Given the description of an element on the screen output the (x, y) to click on. 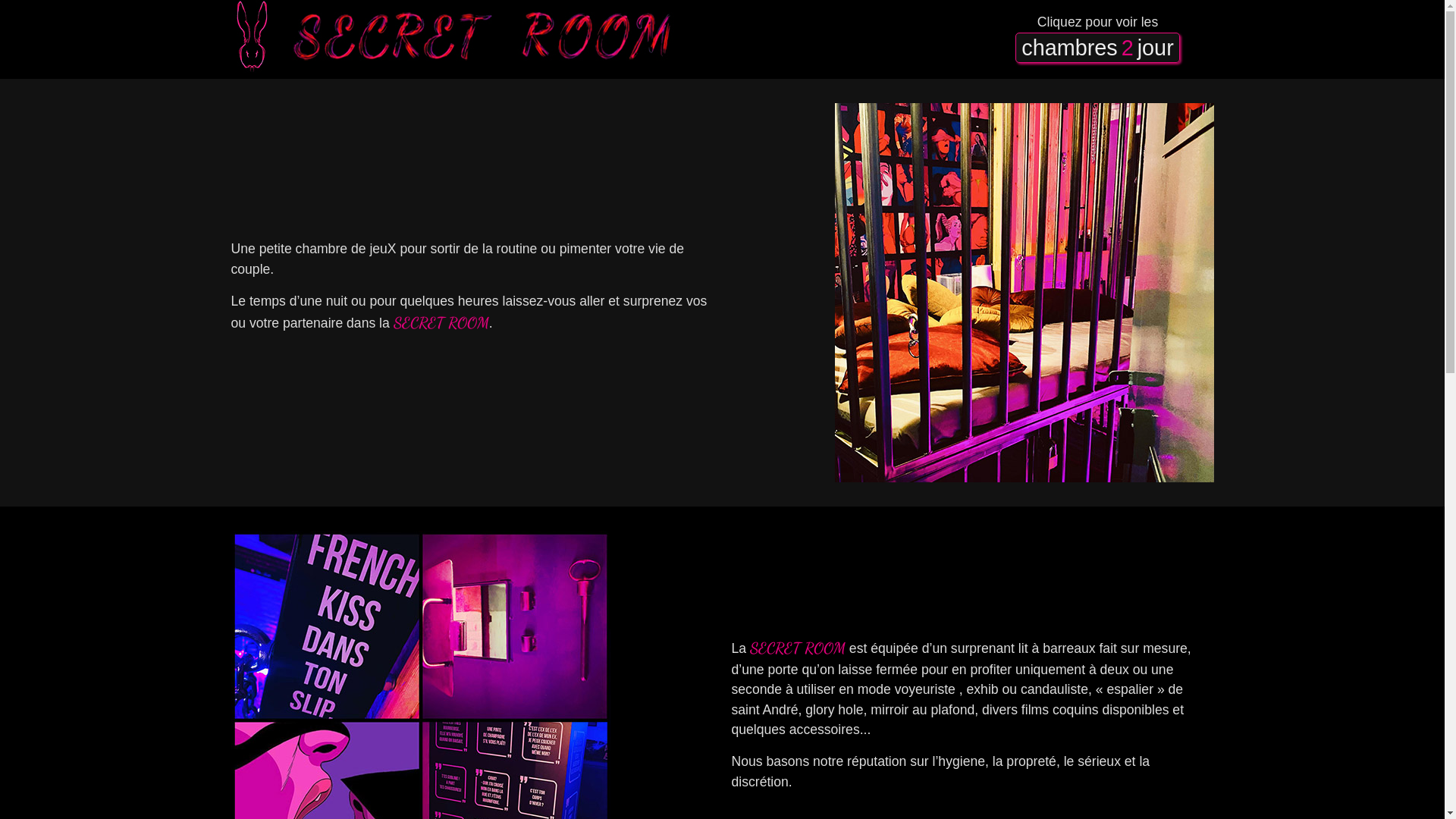
chambres2jour Element type: text (1097, 47)
